Given the description of an element on the screen output the (x, y) to click on. 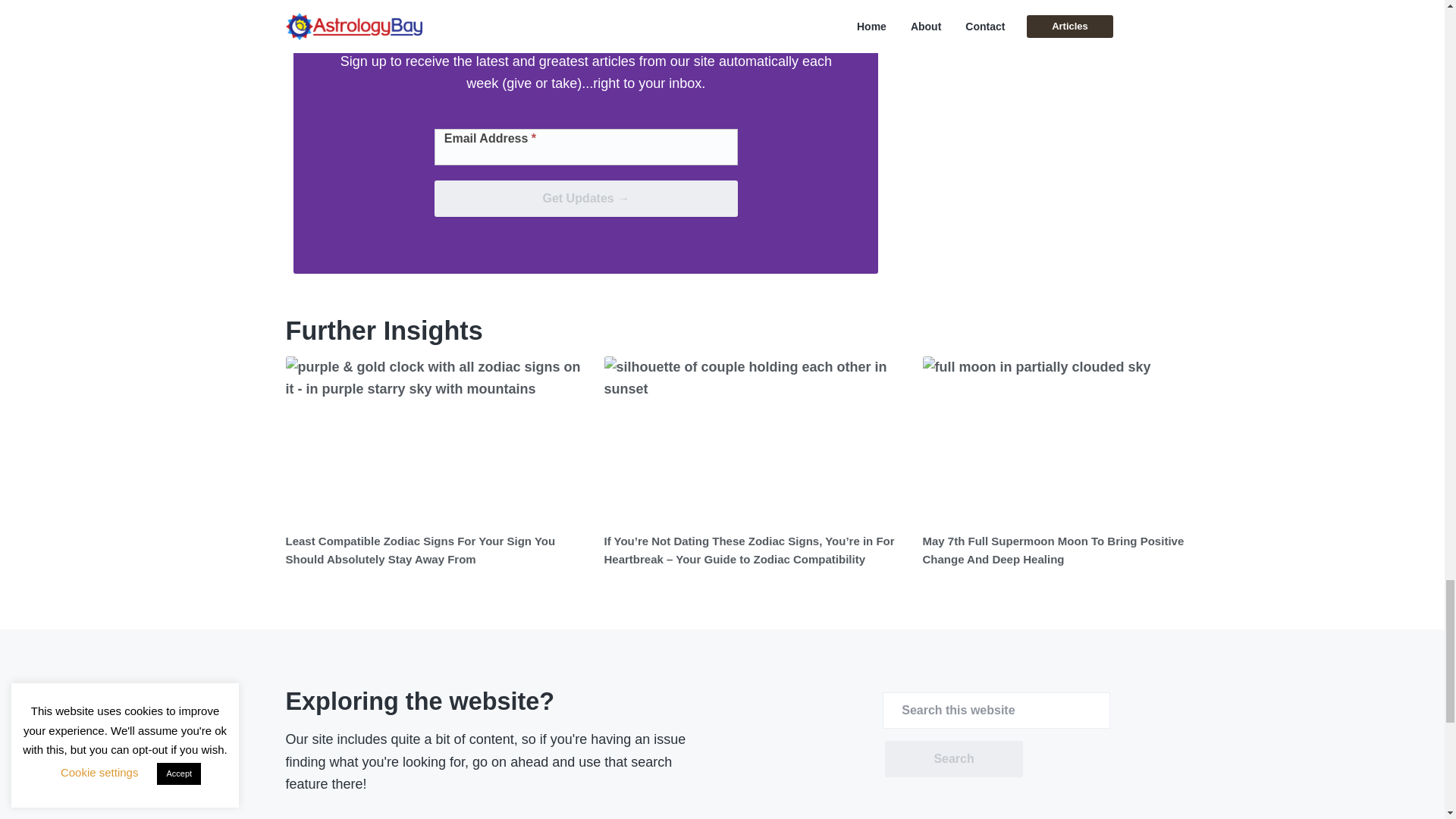
Search (953, 759)
Search (953, 759)
